Given the description of an element on the screen output the (x, y) to click on. 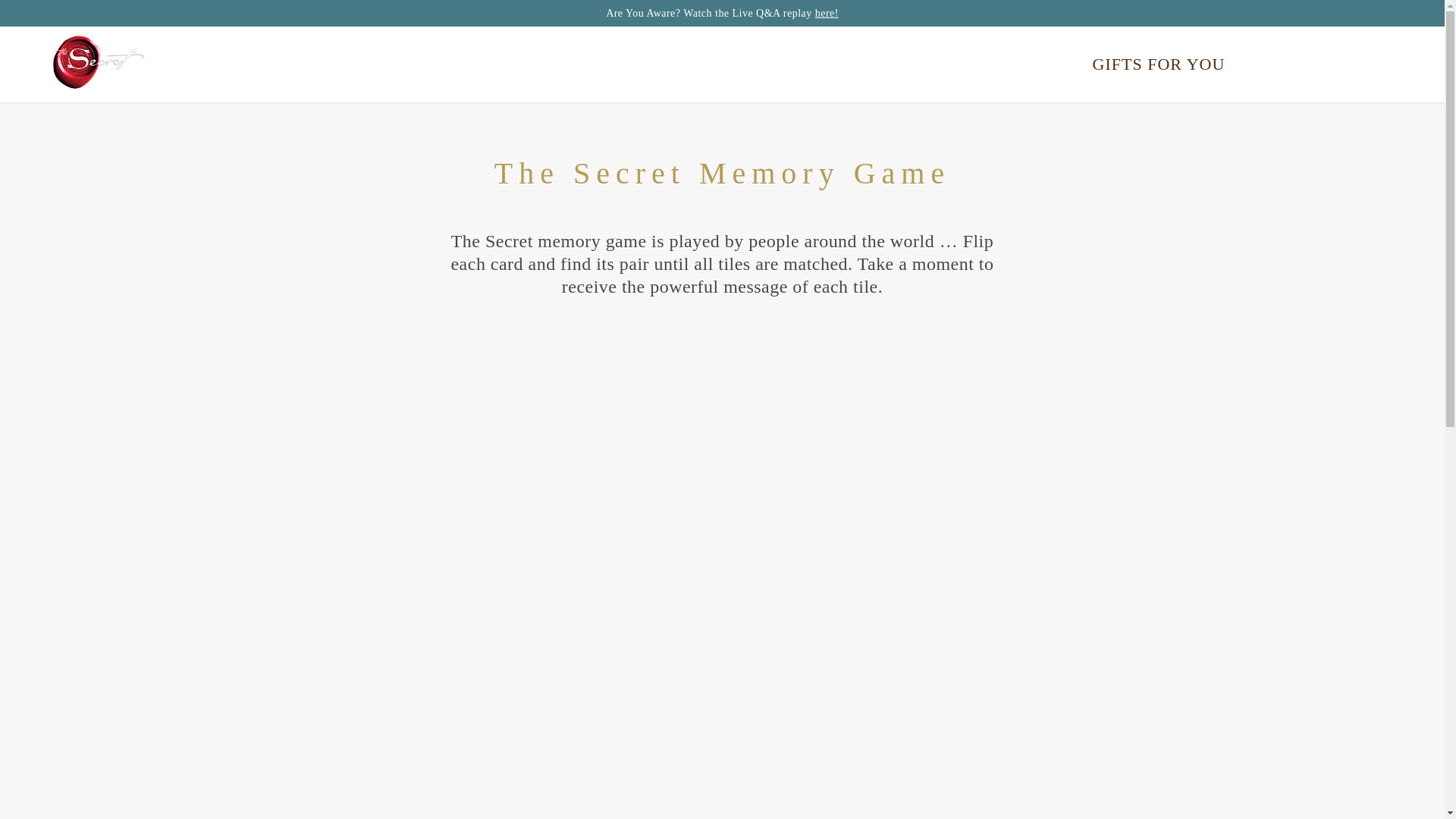
The Official Website of The Secret (98, 64)
GIFTS FOR YOU (1163, 64)
RHONDA TV (746, 64)
PRODUCTS (951, 64)
ABOUT (850, 64)
EXPLORE (631, 64)
